Given the description of an element on the screen output the (x, y) to click on. 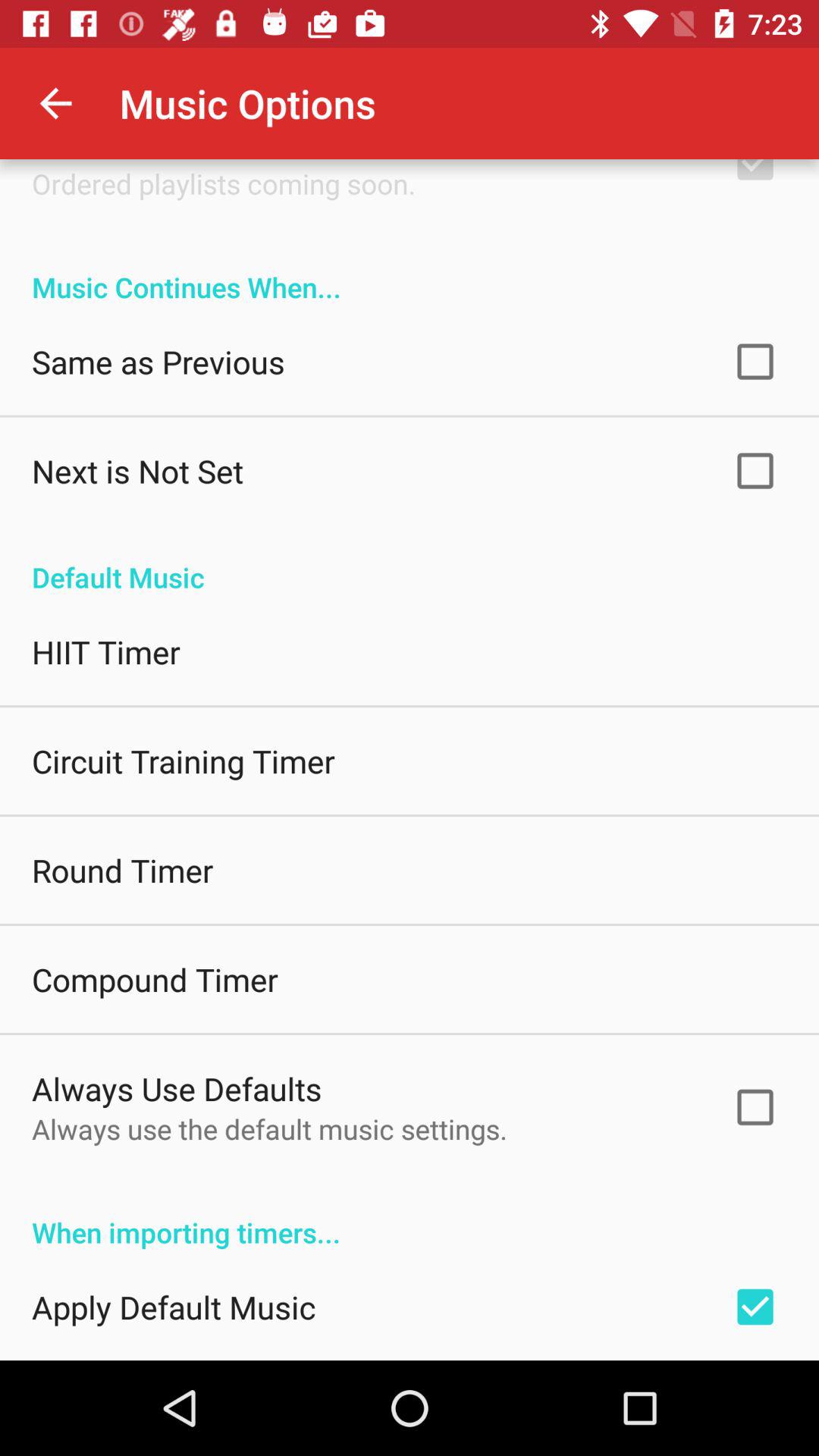
select item to the left of music options (55, 103)
